Given the description of an element on the screen output the (x, y) to click on. 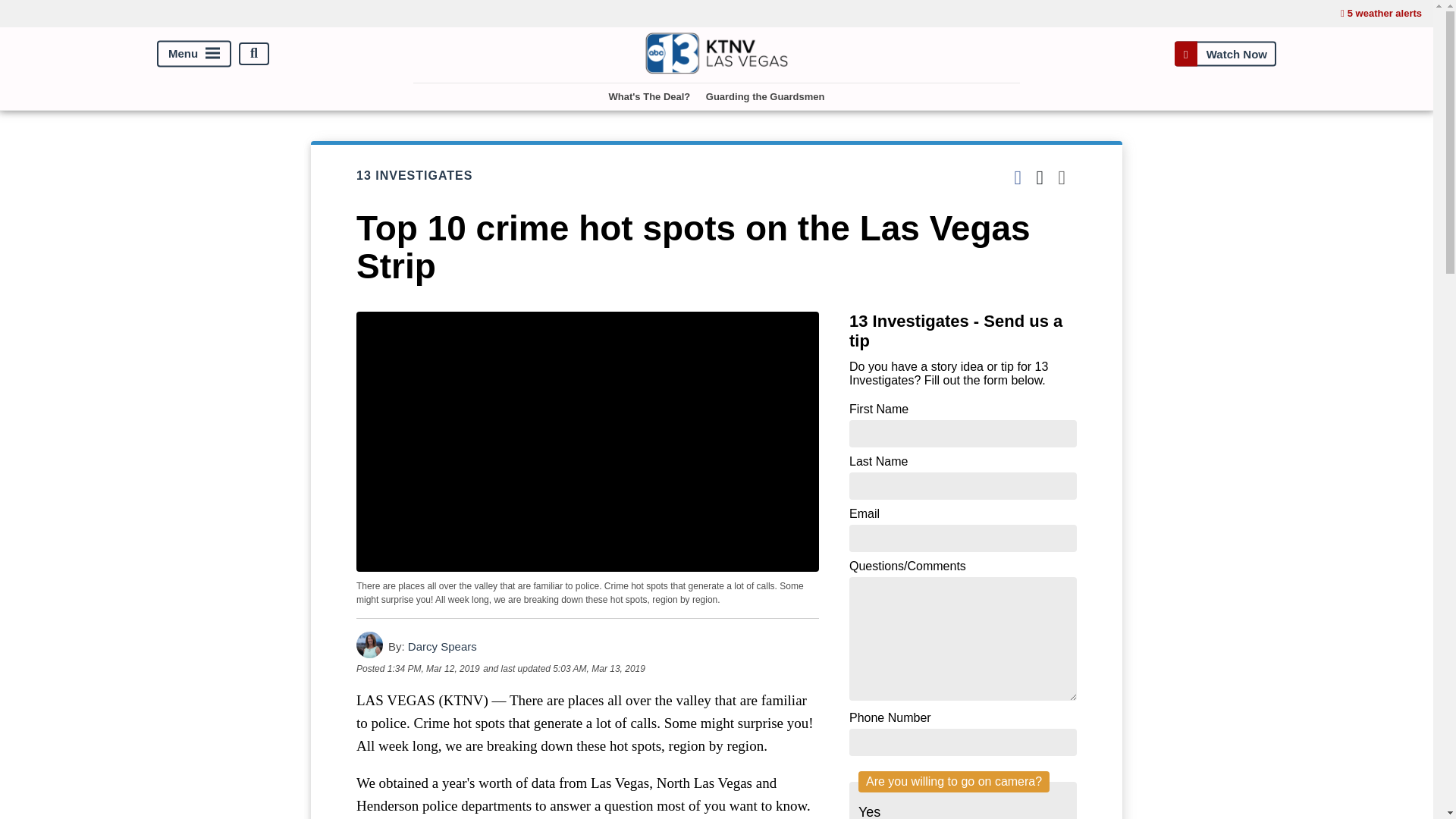
Menu (194, 53)
Watch Now (1224, 52)
